Given the description of an element on the screen output the (x, y) to click on. 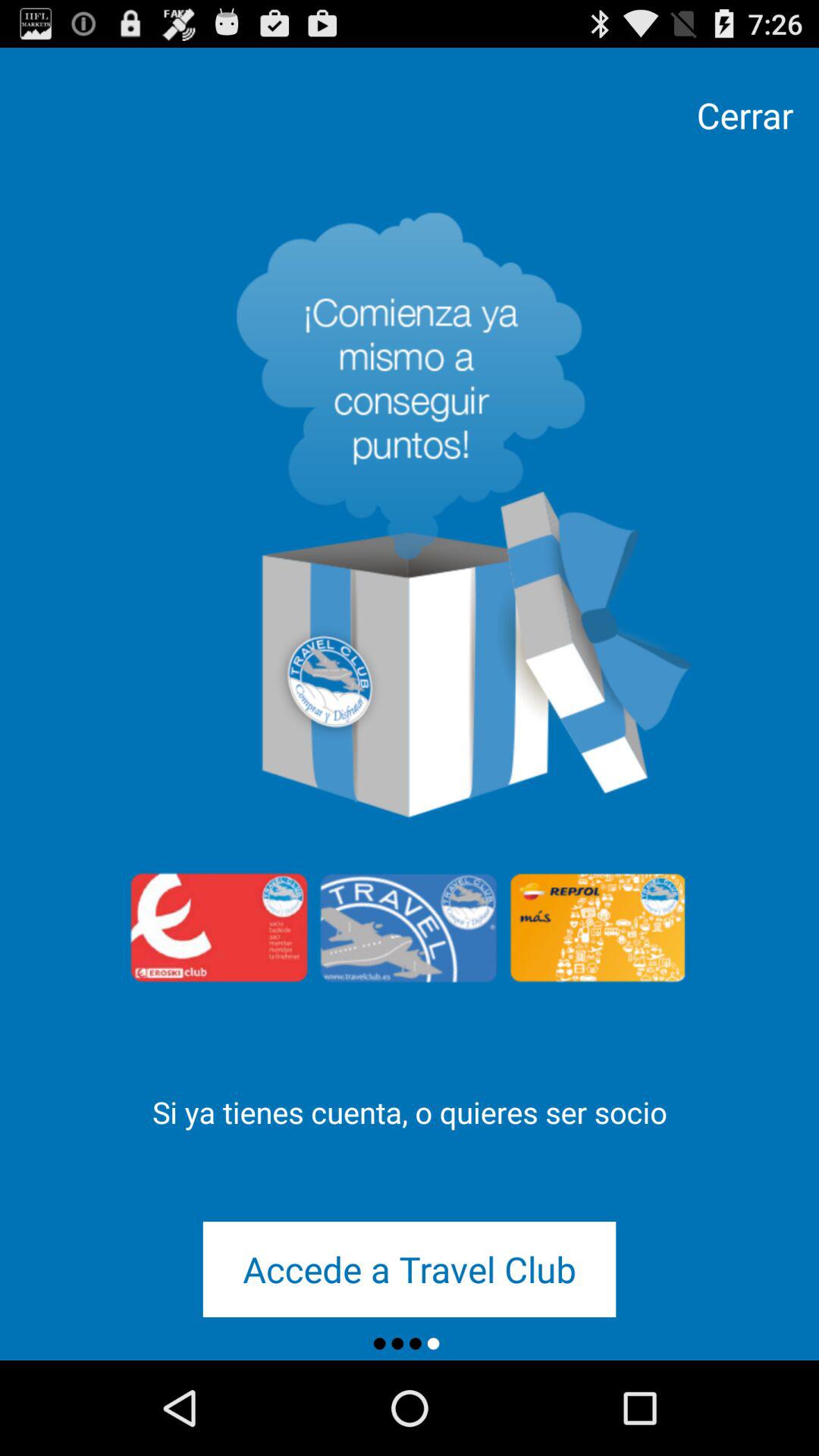
swipe to the cerrar item (744, 115)
